Given the description of an element on the screen output the (x, y) to click on. 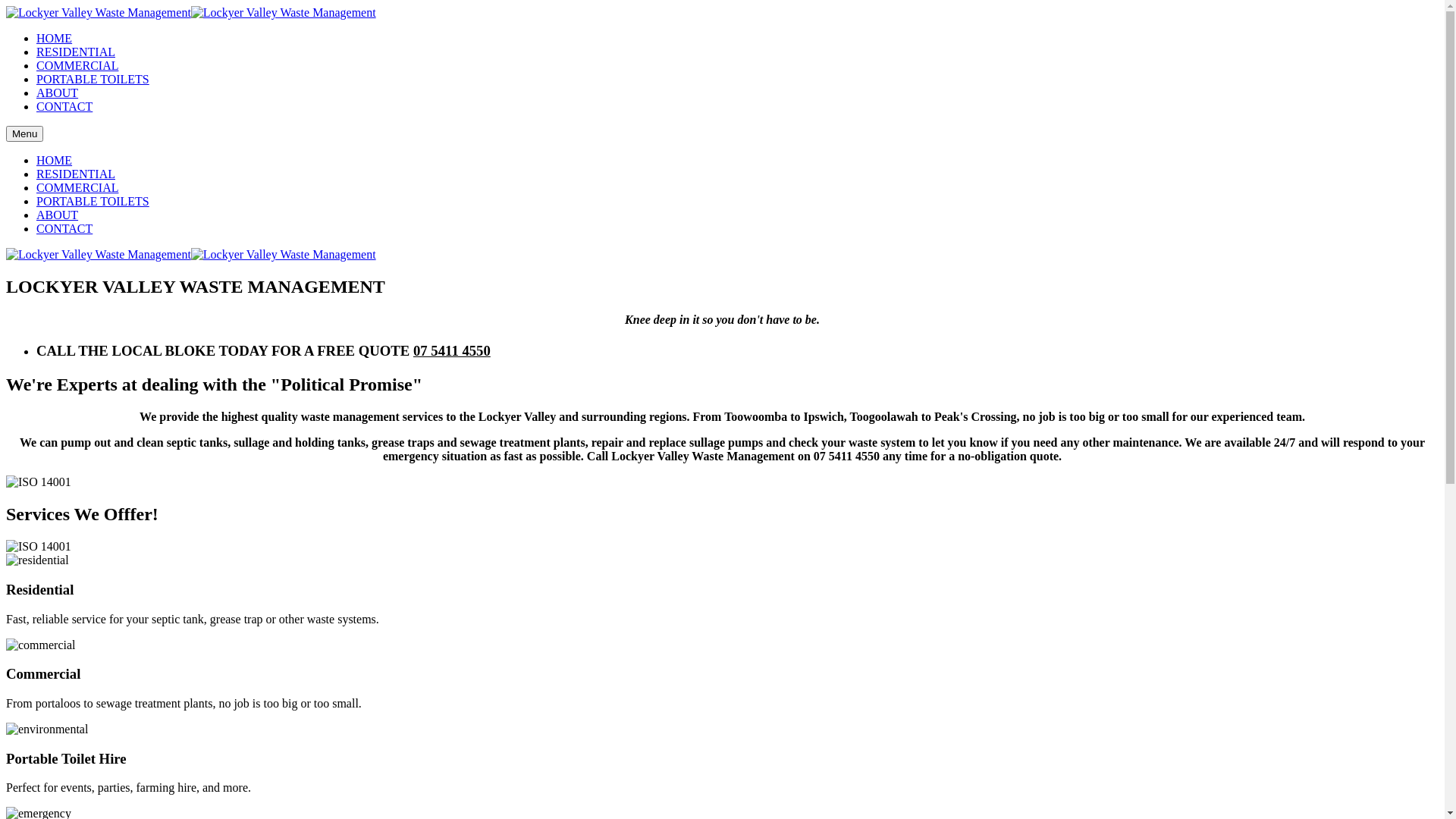
HOME Element type: text (54, 159)
PORTABLE TOILETS Element type: text (92, 78)
RESIDENTIAL Element type: text (75, 51)
CONTACT Element type: text (64, 228)
PORTABLE TOILETS Element type: text (92, 200)
HOME Element type: text (54, 37)
ABOUT Element type: text (57, 214)
CONTACT Element type: text (64, 106)
COMMERCIAL Element type: text (77, 65)
COMMERCIAL Element type: text (77, 187)
RESIDENTIAL Element type: text (75, 173)
ABOUT Element type: text (57, 92)
Menu Element type: text (24, 133)
